Given the description of an element on the screen output the (x, y) to click on. 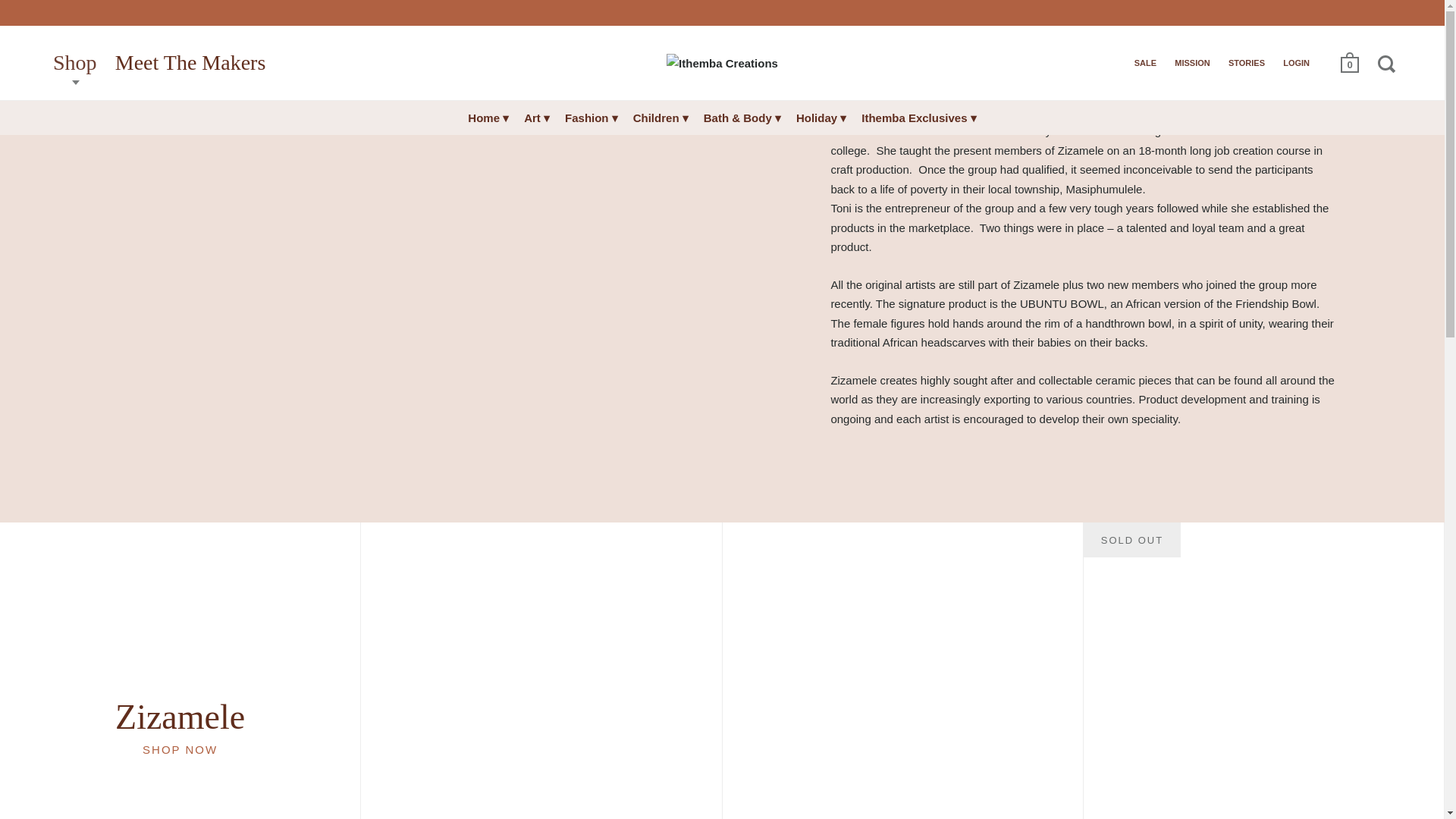
Open search (1387, 62)
Shop (74, 62)
Open cart (1350, 61)
